Given the description of an element on the screen output the (x, y) to click on. 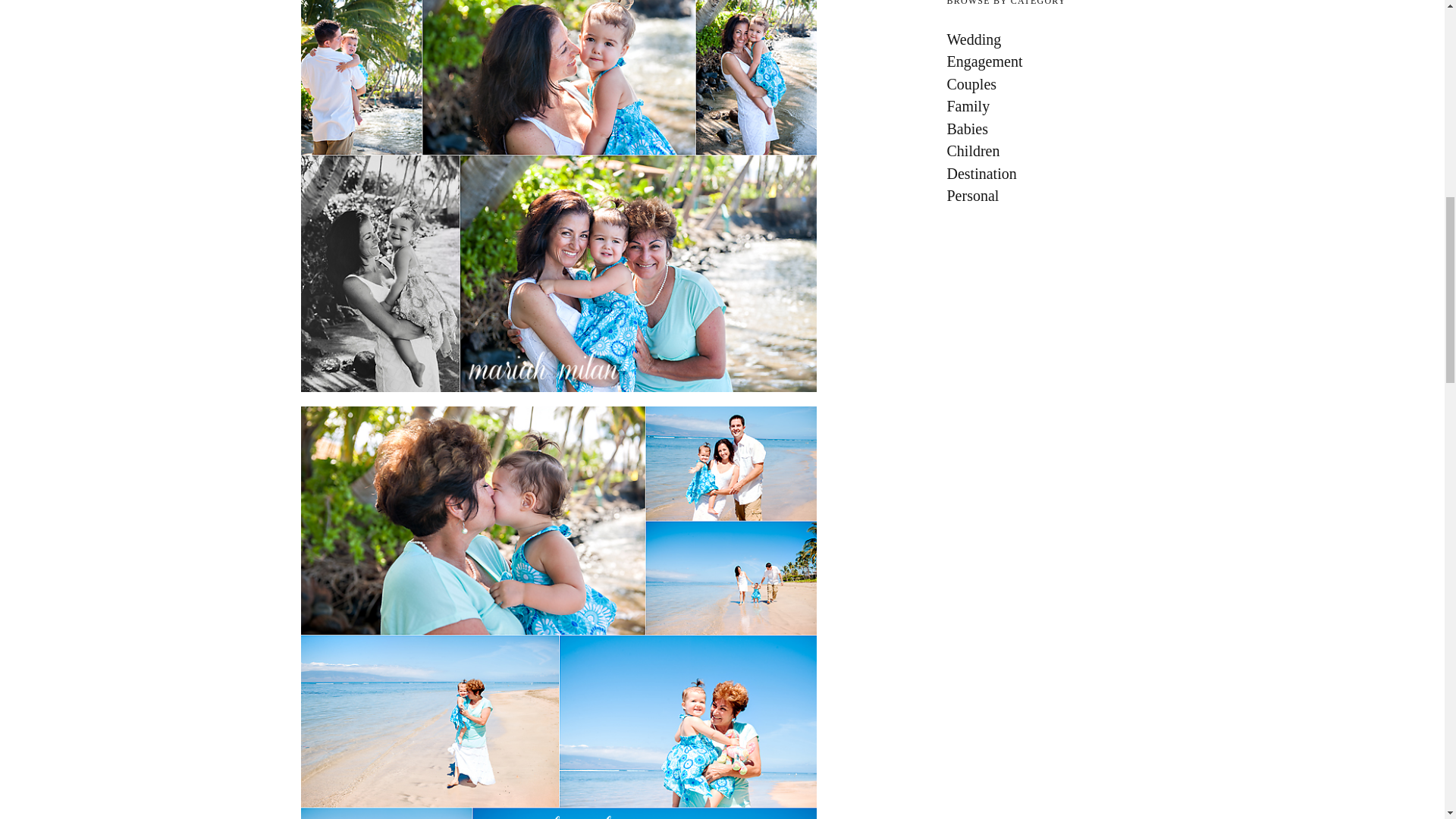
Children (1044, 150)
Family (1044, 106)
Personal (1044, 195)
Destination (1044, 173)
Wedding (1044, 39)
Engagement (1044, 61)
Couples (1044, 84)
Babies (1044, 128)
